Given the description of an element on the screen output the (x, y) to click on. 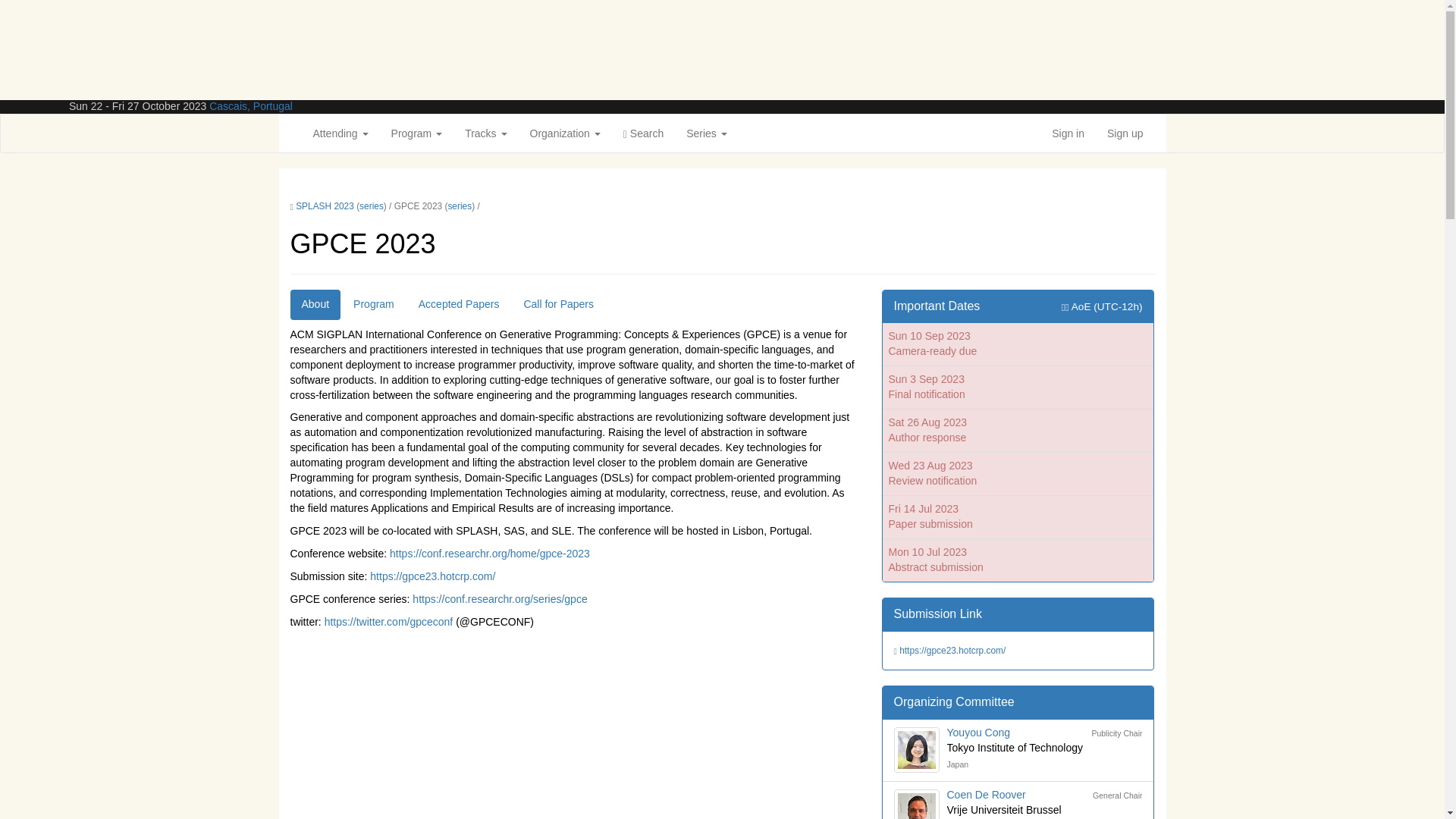
Program (417, 133)
Cascais, Portugal (250, 105)
Attending (340, 133)
Tracks (485, 133)
